Given the description of an element on the screen output the (x, y) to click on. 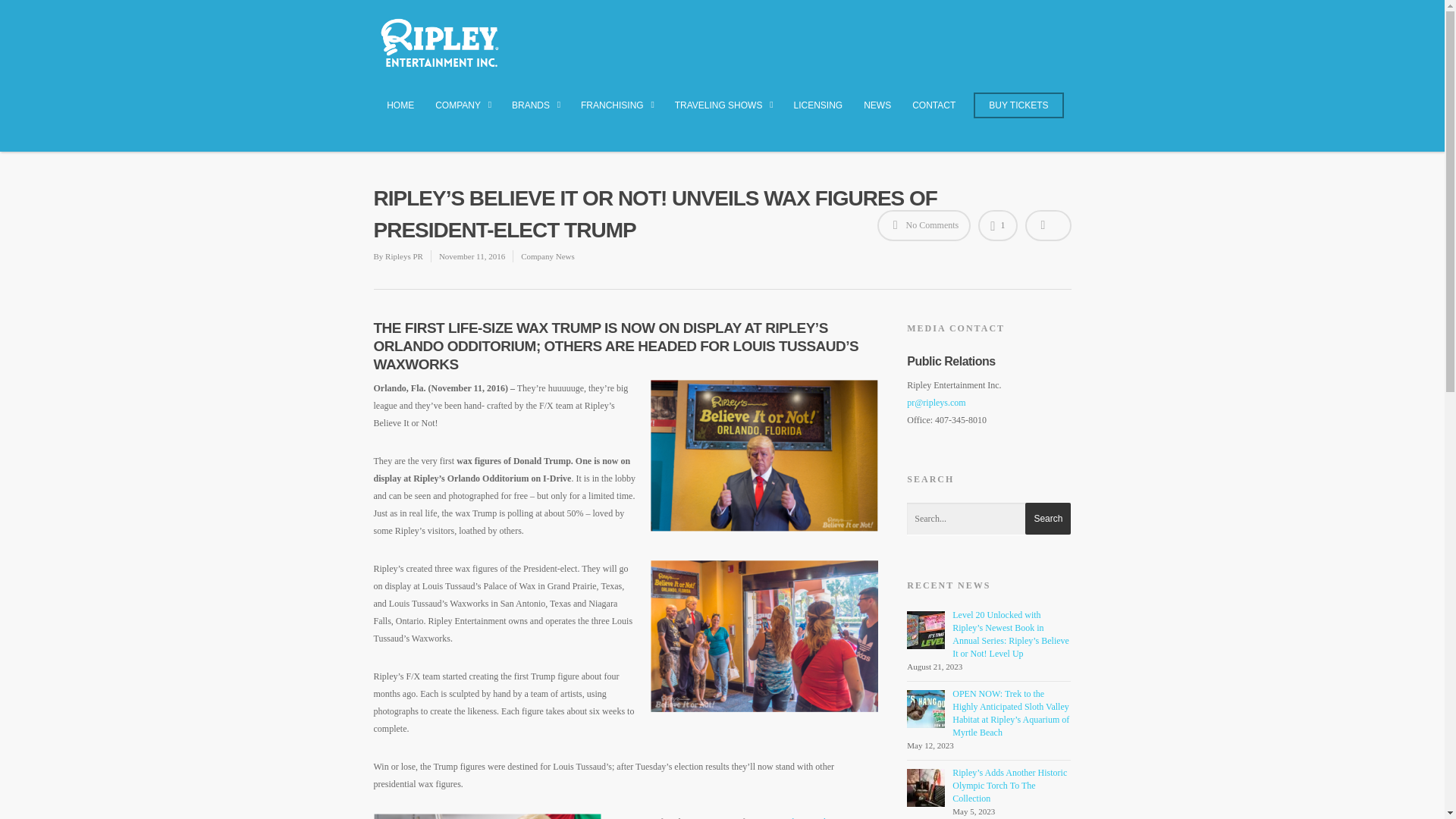
1 (997, 224)
BUY TICKETS (1018, 112)
COMPANY (462, 113)
Love this (997, 224)
BRANDS (535, 113)
No Comments (924, 224)
FRANCHISING (616, 113)
Company News (548, 256)
Search for: (988, 518)
LICENSING (817, 112)
